Given the description of an element on the screen output the (x, y) to click on. 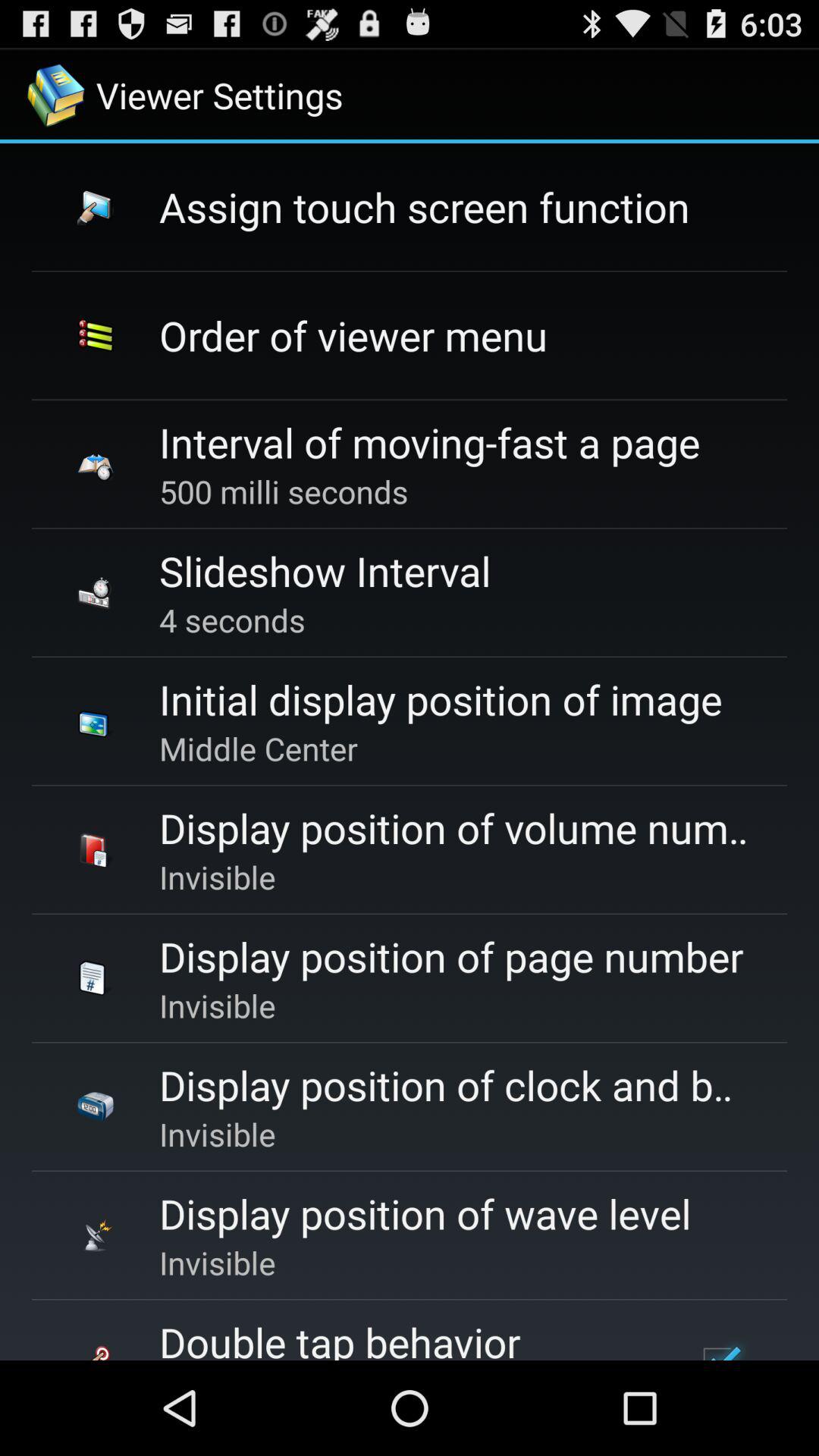
click the checkbox at the bottom right corner (719, 1346)
